Given the description of an element on the screen output the (x, y) to click on. 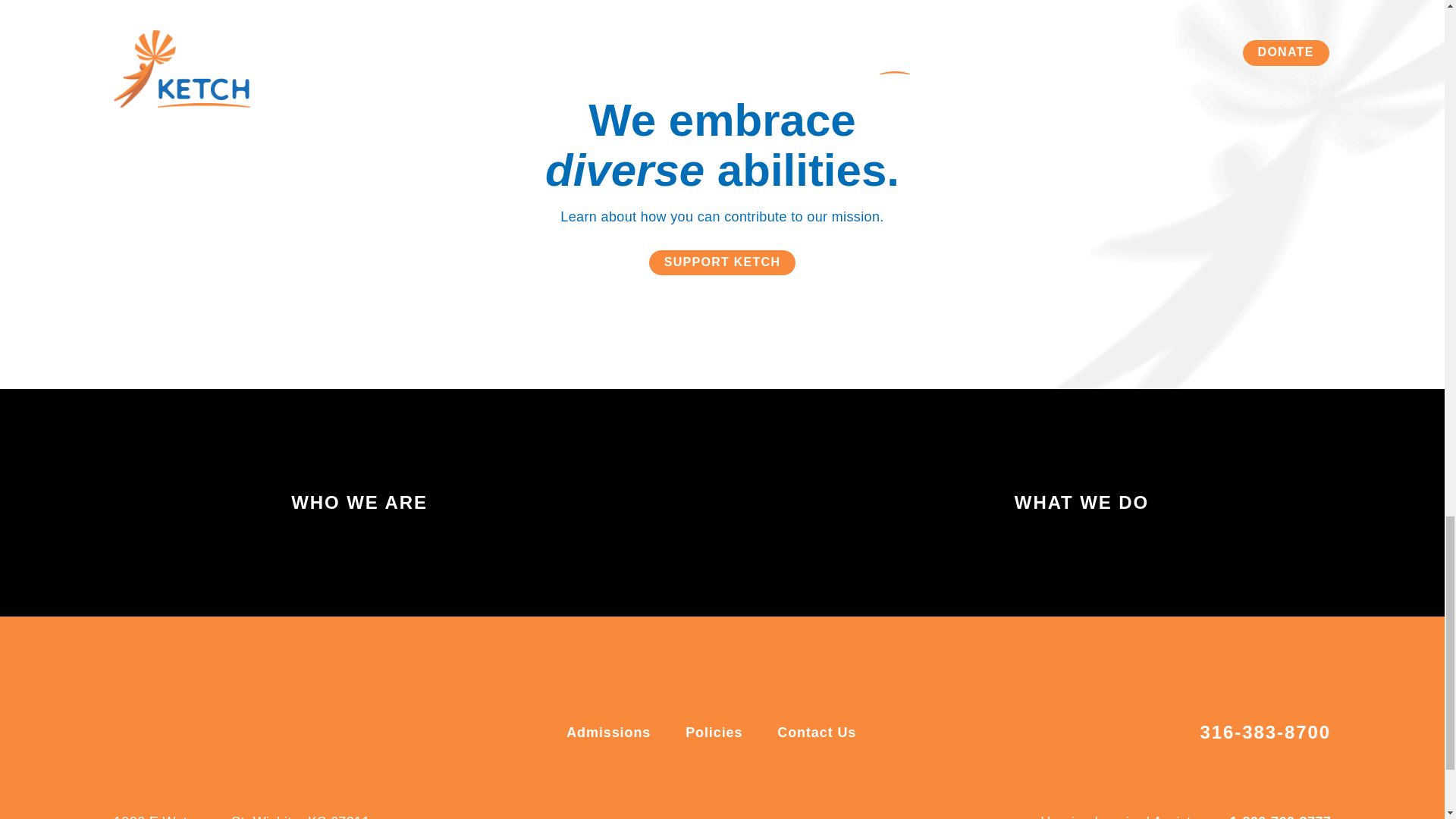
KETCH on Facebook (699, 809)
316-383-8700 (1264, 732)
Admissions (610, 732)
Contact Us (815, 732)
1006 E Waterman St, Wichita, KS 67211 (241, 812)
KETCH on Twitter (744, 809)
Policies (715, 732)
SUPPORT KETCH (722, 262)
